Given the description of an element on the screen output the (x, y) to click on. 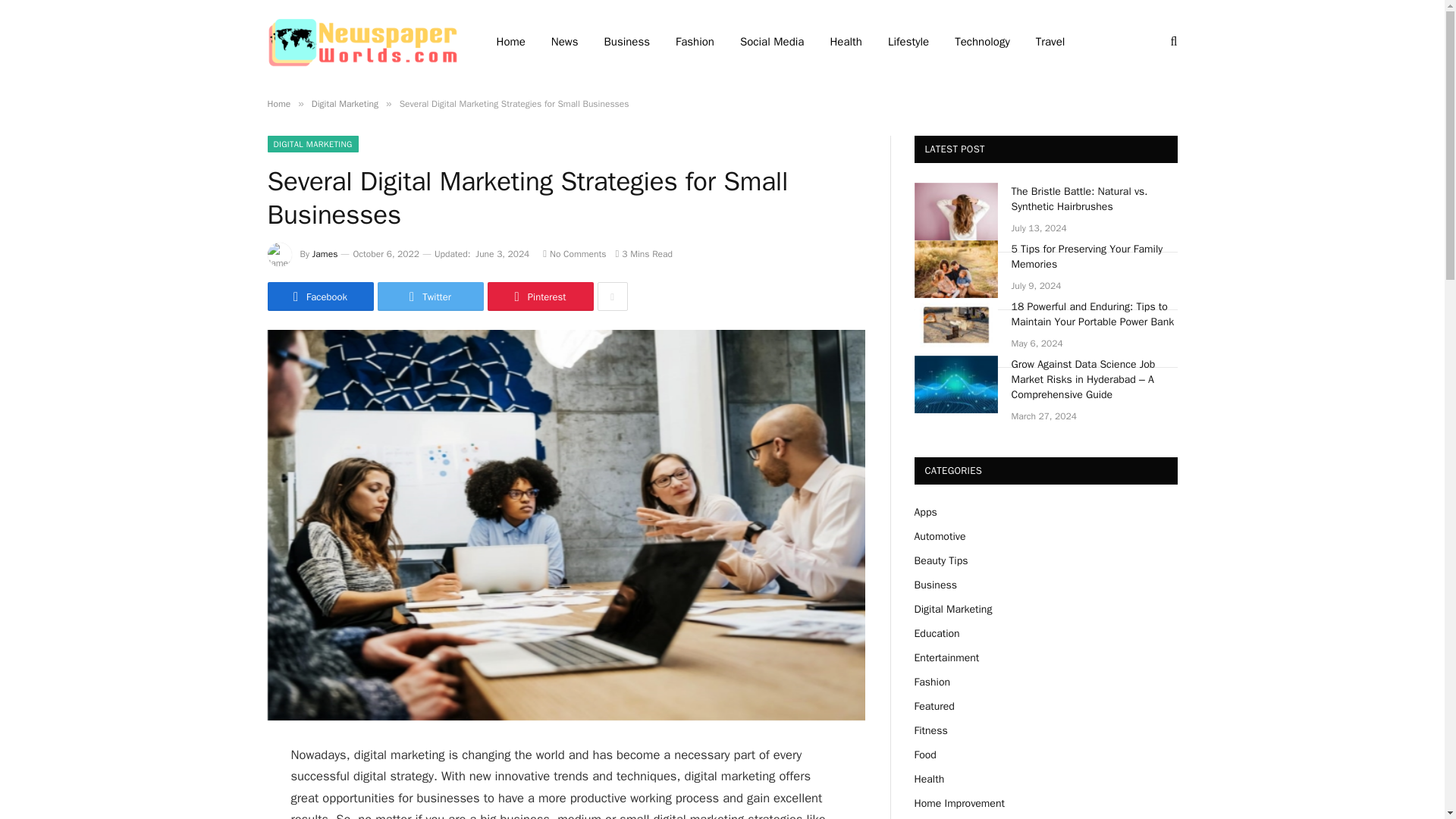
Share on Facebook (319, 296)
Show More Social Sharing (611, 296)
Home (277, 103)
Digital Marketing (344, 103)
DIGITAL MARKETING (312, 143)
Twitter (430, 296)
Social Media (771, 41)
Share on Pinterest (539, 296)
newspaperworlds (361, 41)
Facebook (319, 296)
No Comments (574, 254)
Technology (982, 41)
Pinterest (539, 296)
James (325, 254)
